Given the description of an element on the screen output the (x, y) to click on. 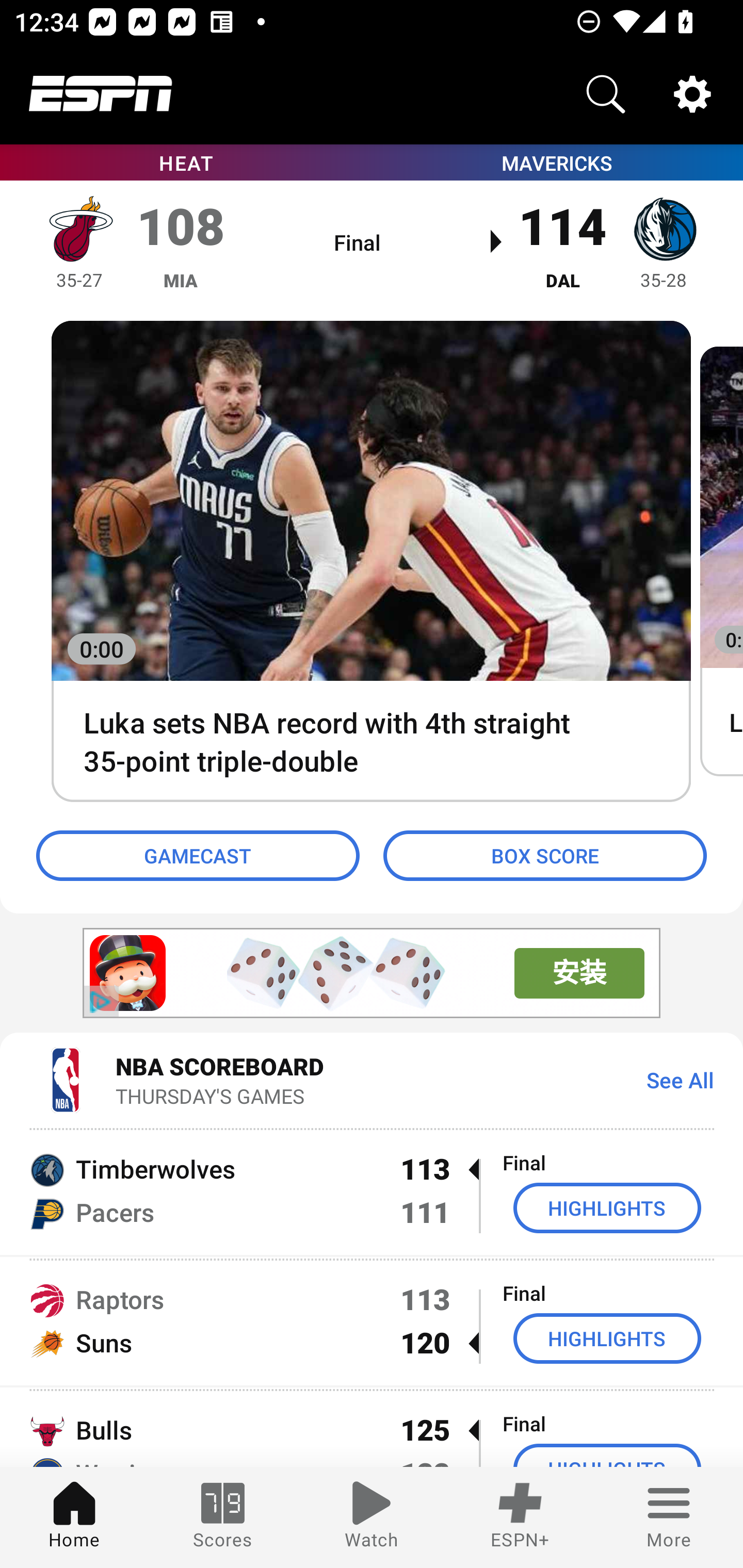
Search (605, 93)
Settings (692, 93)
GAMECAST (197, 856)
BOX SCORE (544, 856)
90ddee7bfe49407238cd (128, 973)
安装 (578, 972)
NBA SCOREBOARD THURSDAY'S GAMES See All (371, 1079)
Timberwolves 113  Final Pacers 111 HIGHLIGHTS (371, 1189)
HIGHLIGHTS (607, 1208)
Raptors 113 Final Suns 120  HIGHLIGHTS (371, 1321)
HIGHLIGHTS (607, 1338)
Bulls 125  Final Warriors 122 HIGHLIGHTS (371, 1427)
Scores (222, 1517)
Watch (371, 1517)
ESPN+ (519, 1517)
More (668, 1517)
